Given the description of an element on the screen output the (x, y) to click on. 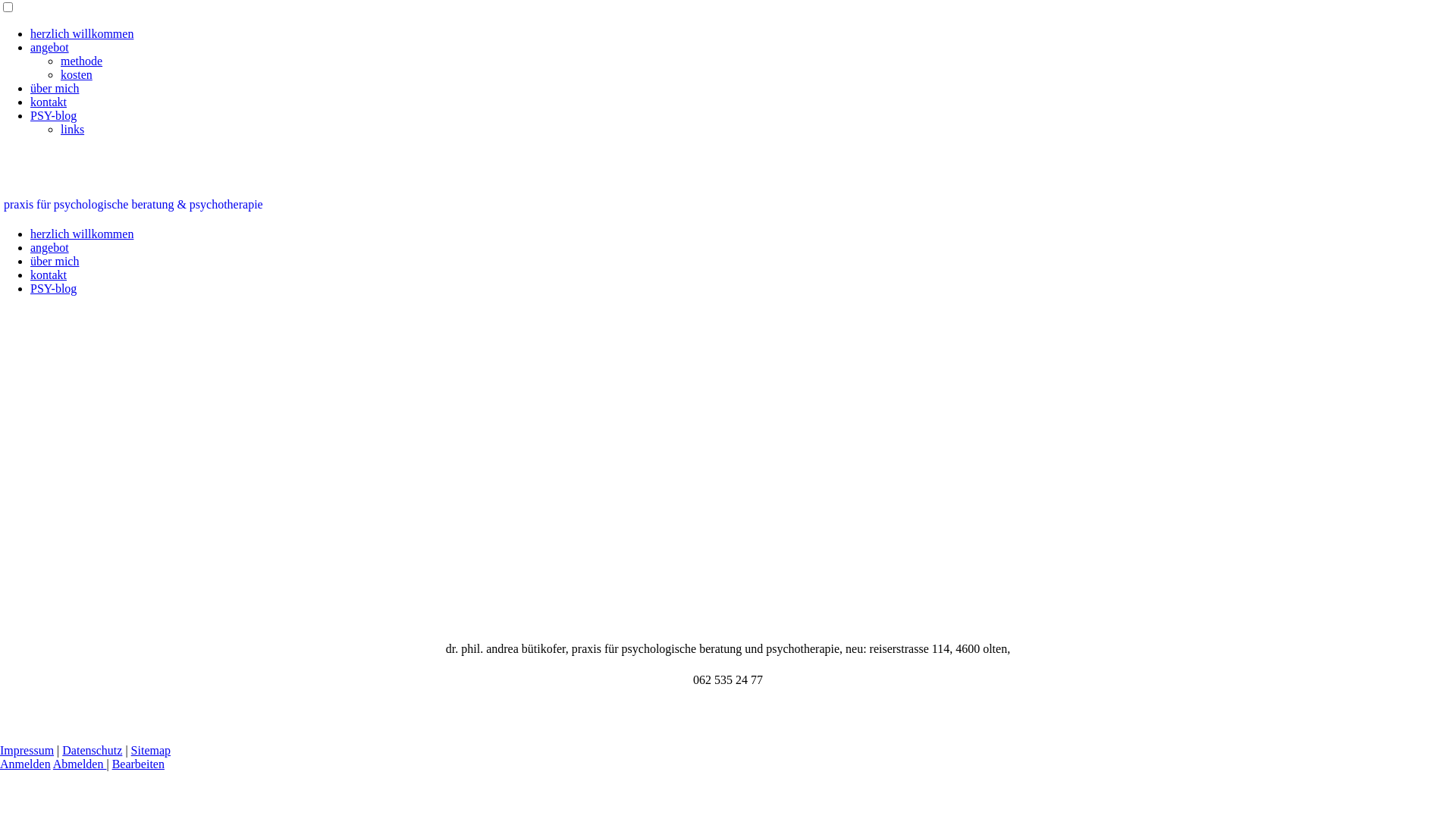
Datenschutz Element type: text (92, 749)
kontakt Element type: text (48, 101)
herzlich willkommen Element type: text (81, 233)
kontakt Element type: text (48, 274)
kosten Element type: text (76, 74)
links Element type: text (72, 128)
Impressum Element type: text (26, 749)
PSY-blog Element type: text (53, 288)
PSY-blog Element type: text (53, 115)
Bearbeiten Element type: text (138, 763)
herzlich willkommen Element type: text (81, 33)
Sitemap Element type: text (150, 749)
Abmelden Element type: text (79, 763)
angebot Element type: text (49, 247)
methode Element type: text (81, 60)
Anmelden Element type: text (25, 763)
angebot Element type: text (49, 46)
